Given the description of an element on the screen output the (x, y) to click on. 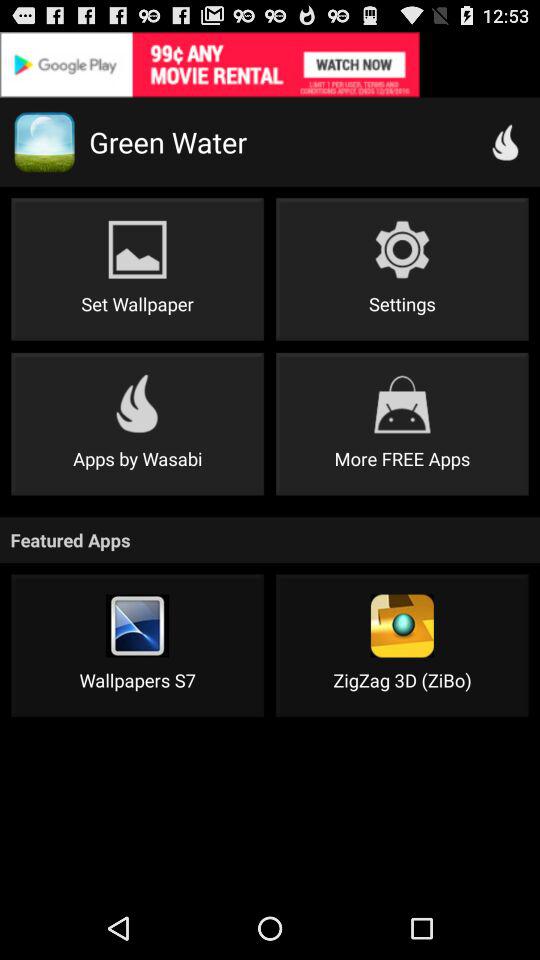
for advertisement (270, 64)
